Given the description of an element on the screen output the (x, y) to click on. 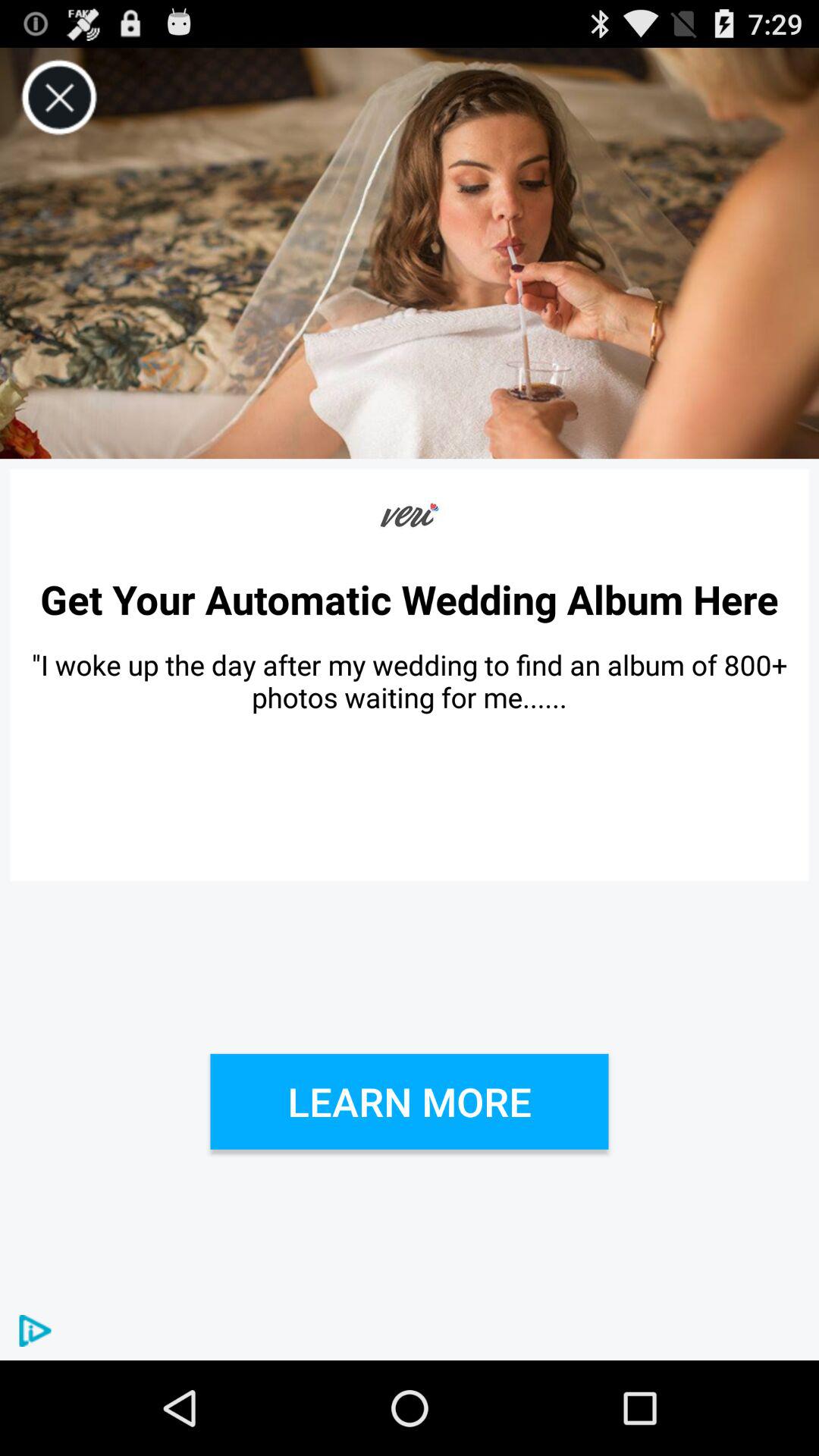
flip to learn more (409, 1101)
